Given the description of an element on the screen output the (x, y) to click on. 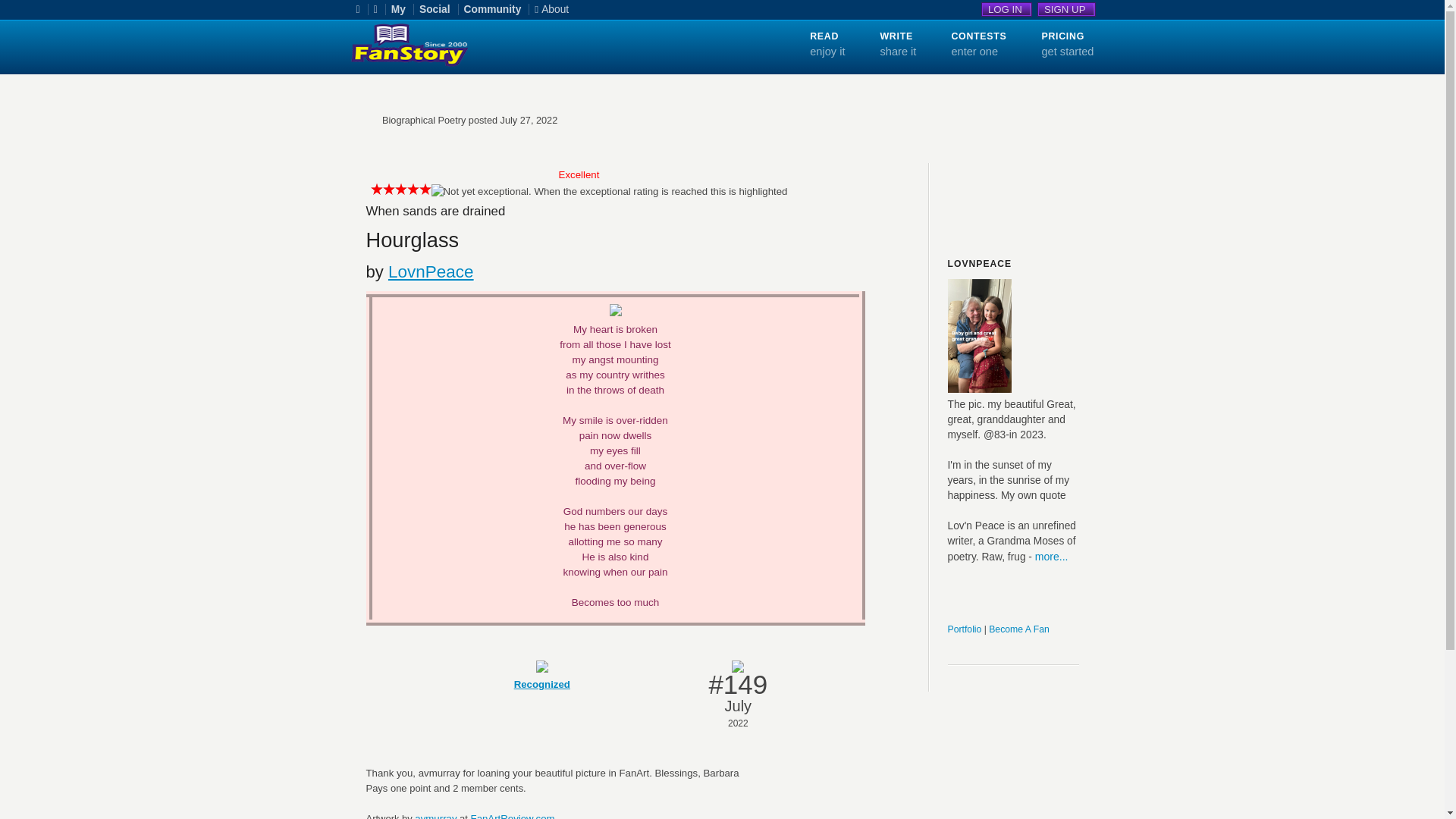
  SIGN UP (1066, 9)
About (555, 9)
Social (438, 9)
  LOG IN (1006, 9)
Community (496, 9)
My (402, 9)
